Given the description of an element on the screen output the (x, y) to click on. 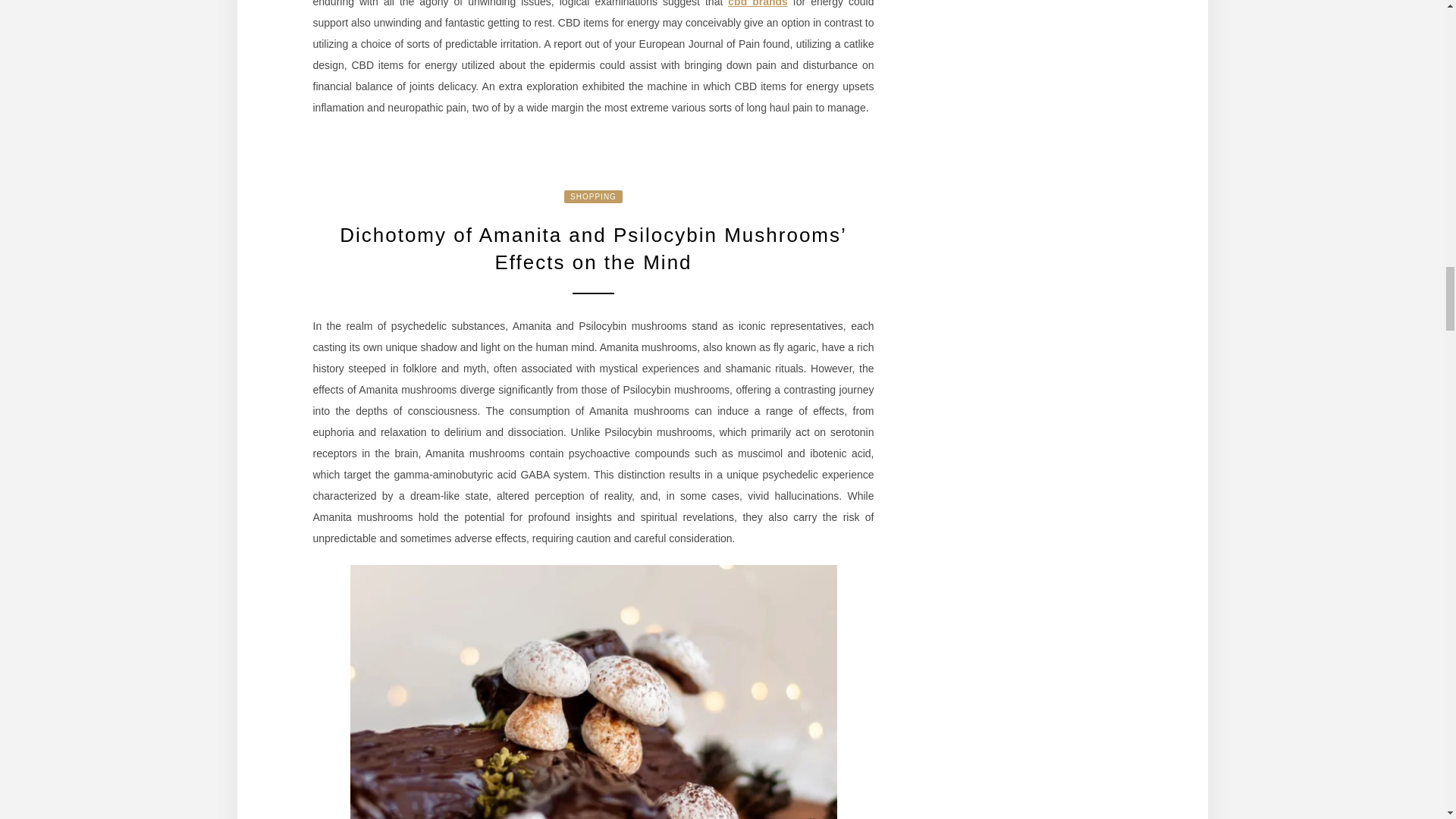
SHOPPING (593, 196)
cbd brands (757, 3)
